Given the description of an element on the screen output the (x, y) to click on. 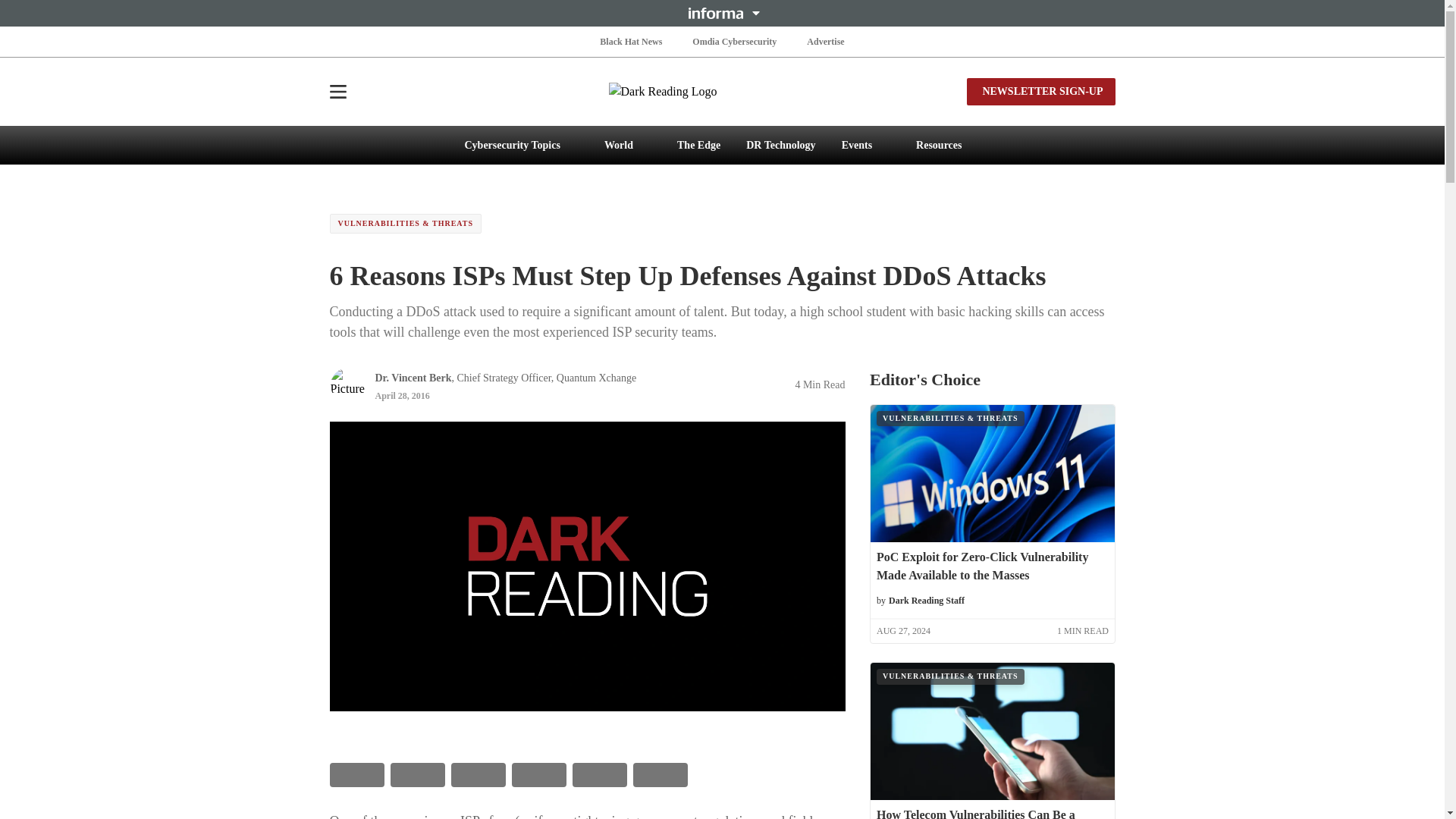
Dark Reading Logo (721, 91)
NEWSLETTER SIGN-UP (1040, 90)
Black Hat News (630, 41)
Picture of Dr. Vincent Berk (347, 384)
Advertise (825, 41)
Omdia Cybersecurity (733, 41)
